Given the description of an element on the screen output the (x, y) to click on. 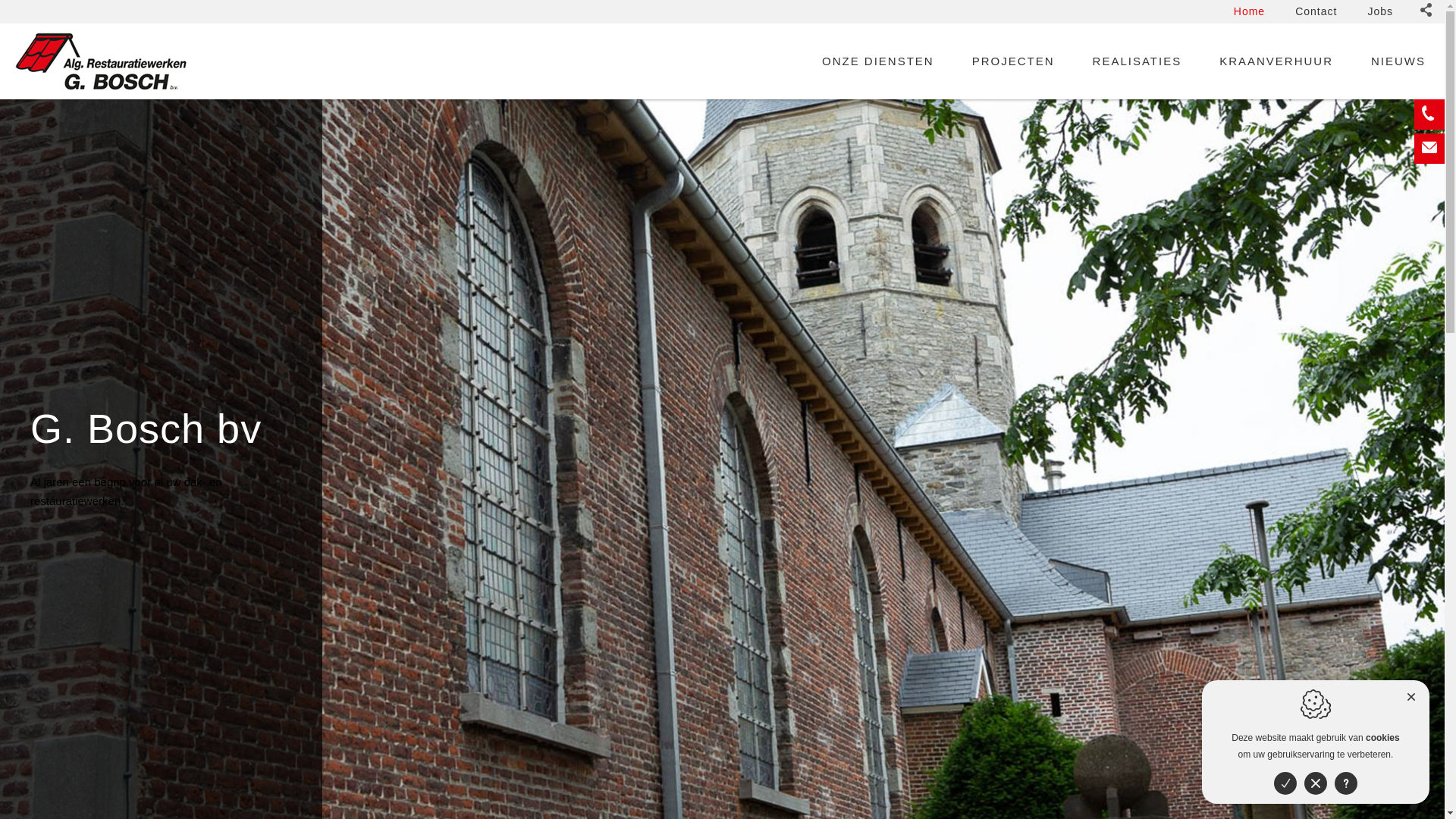
Weigeren Element type: hover (1315, 782)
NIEUWS Element type: text (1398, 61)
KRAANVERHUUR Element type: text (1275, 61)
Contact Element type: text (1315, 11)
Home Element type: text (1249, 11)
PROJECTEN Element type: text (1013, 61)
Jobs Element type: text (1379, 11)
1 Element type: text (1413, 805)
2 Element type: text (1423, 805)
Aanvaarden Element type: hover (1285, 782)
REALISATIES Element type: text (1137, 61)
Meer informatie Element type: hover (1345, 782)
